Given the description of an element on the screen output the (x, y) to click on. 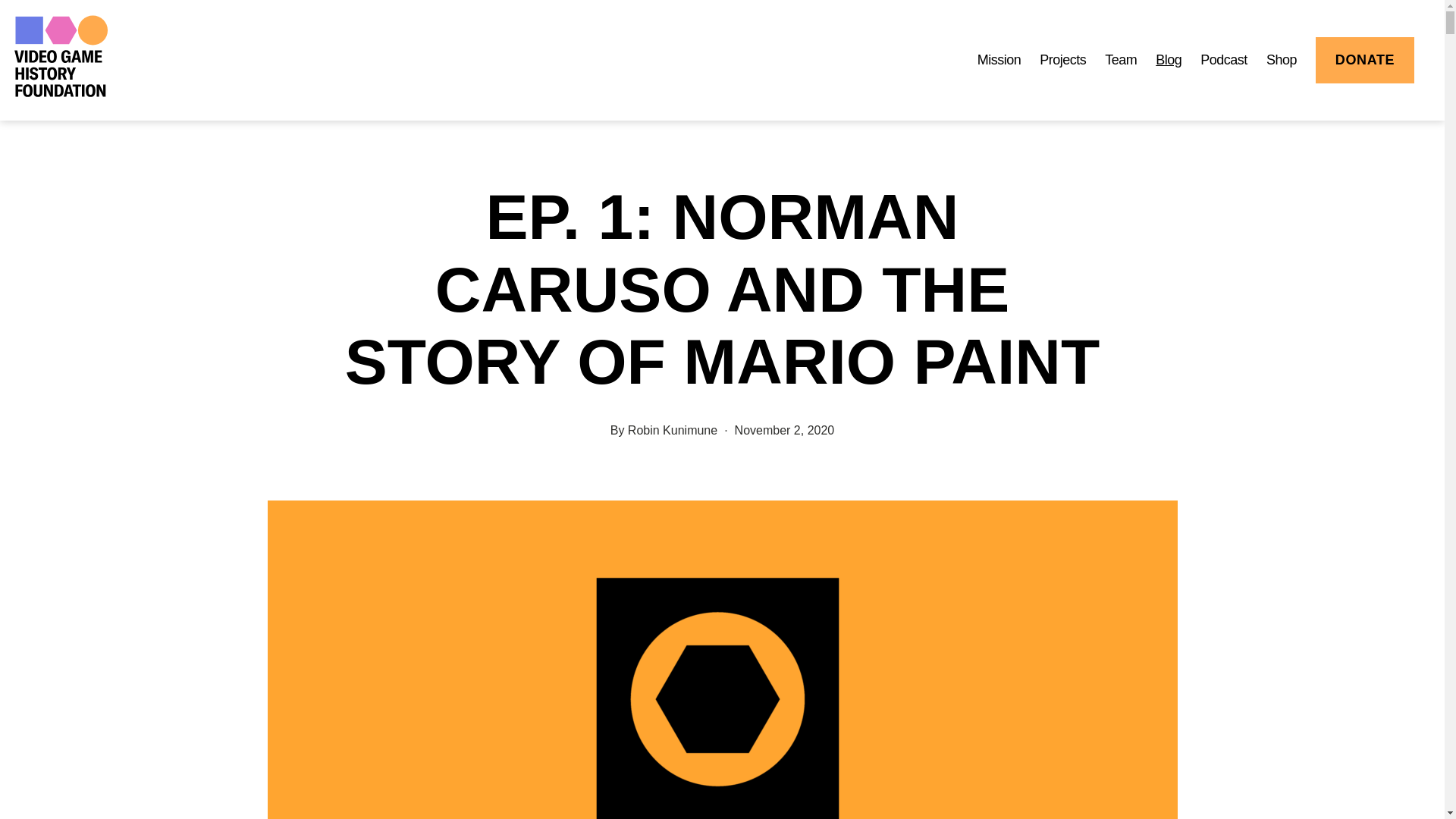
Projects (1062, 60)
DONATE (1364, 59)
Team (1121, 60)
Blog (1168, 60)
Mission (999, 60)
Video Game History Foundation (60, 56)
November 2, 2020 (784, 430)
Podcast (1223, 60)
Shop (1281, 60)
Robin Kunimune (672, 430)
